Given the description of an element on the screen output the (x, y) to click on. 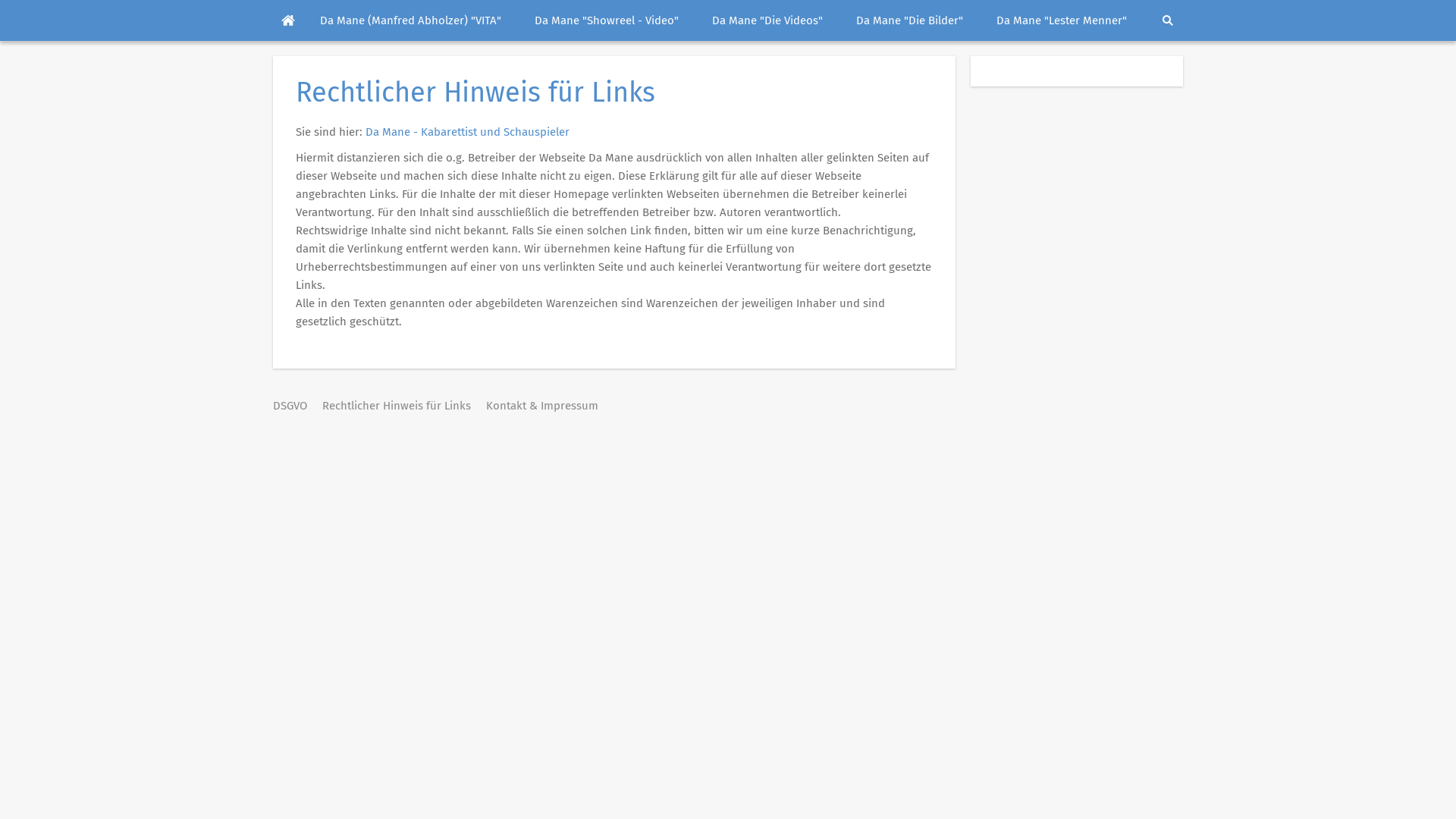
Kontakt & Impressum Element type: text (542, 405)
DSGVO Element type: text (290, 405)
Da Mane - Kabarettist und Schauspieler Element type: text (467, 131)
Da Mane "Die Videos" Element type: text (767, 20)
Da Mane (Manfred Abholzer) "VITA" Element type: text (410, 20)
Da Mane "Die Bilder" Element type: text (909, 20)
Da Mane "Showreel - Video" Element type: text (606, 20)
Da Mane "Lester Menner" Element type: text (1061, 20)
